Given the description of an element on the screen output the (x, y) to click on. 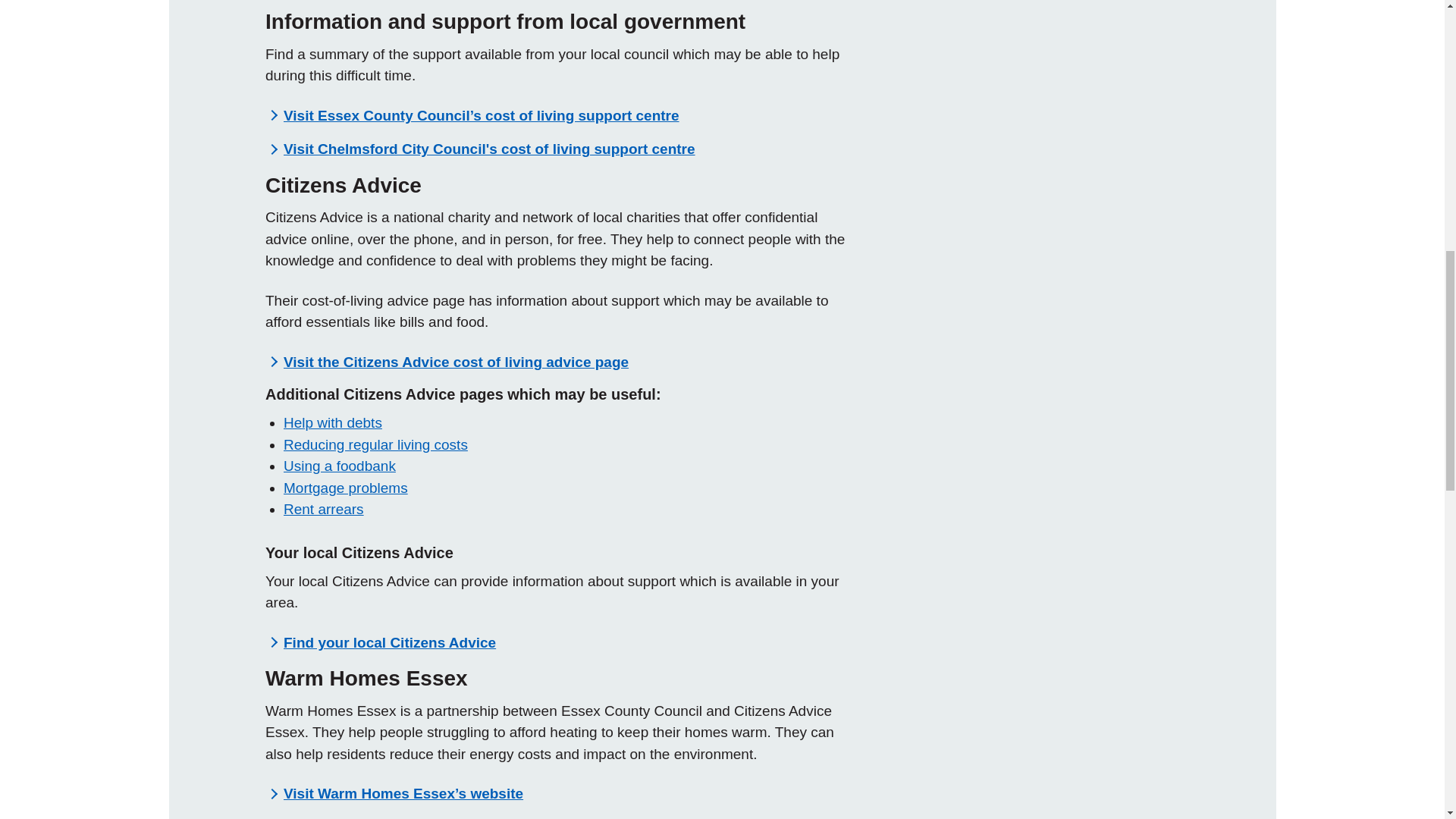
Rent arrears (323, 508)
Visit the Citizens Advice cost of living advice page (455, 361)
Mortgage problems (345, 487)
Reducing regular living costs (375, 444)
Using a foodbank (339, 465)
Help with debts (332, 422)
